Given the description of an element on the screen output the (x, y) to click on. 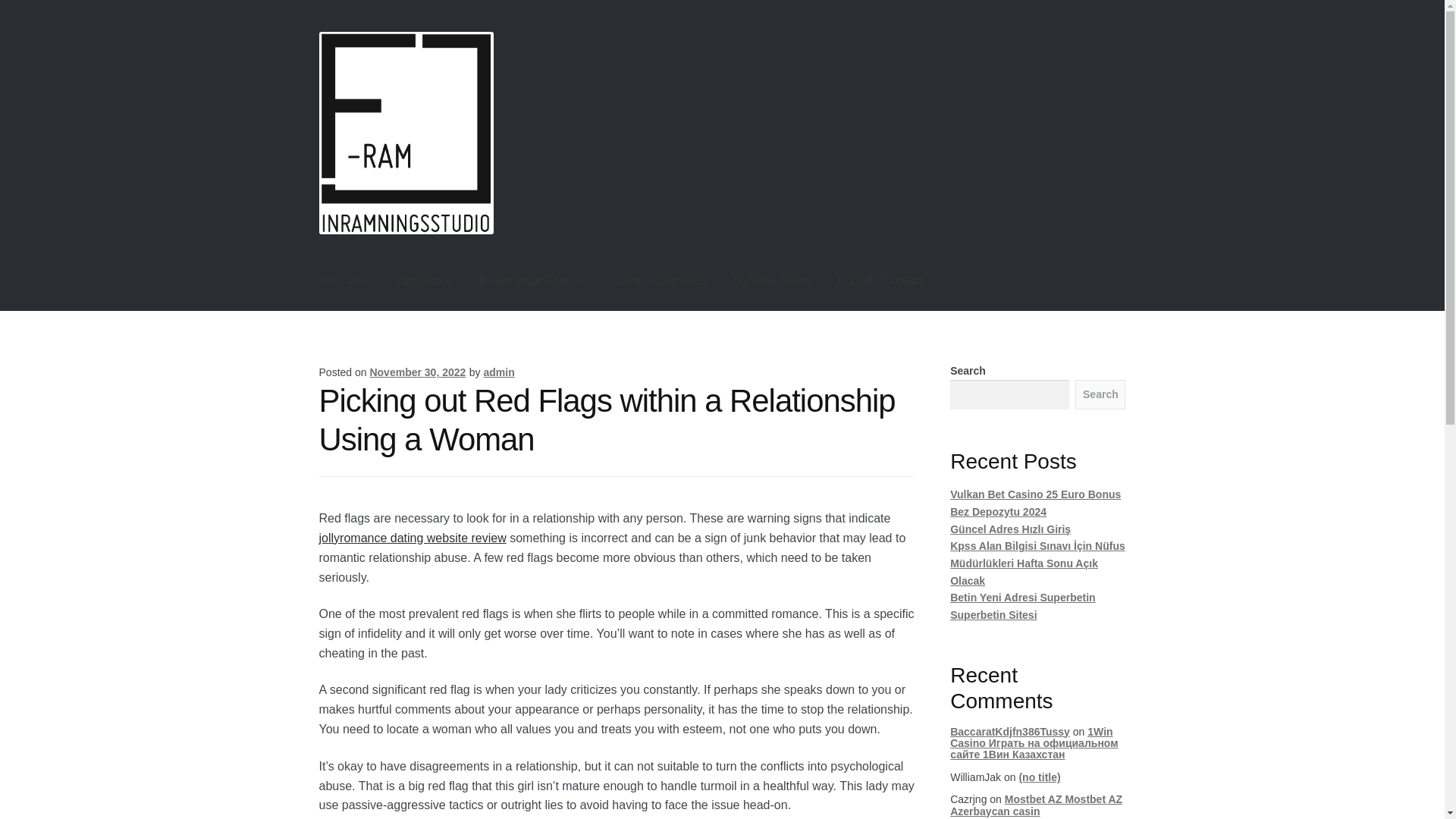
BaccaratKdjfn386Tussy (1010, 731)
Betin Yeni Adresi Superbetin (1022, 597)
Mostbet AZ Mostbet AZ Azerbaycan casin (1036, 804)
Search (1100, 395)
admin (498, 372)
Vulkan Bet Casino 25 Euro Bonus Bez Depozytu 2024 (1035, 502)
Superbetin Sitesi (993, 614)
November 30, 2022 (417, 372)
Welcome (344, 280)
